Given the description of an element on the screen output the (x, y) to click on. 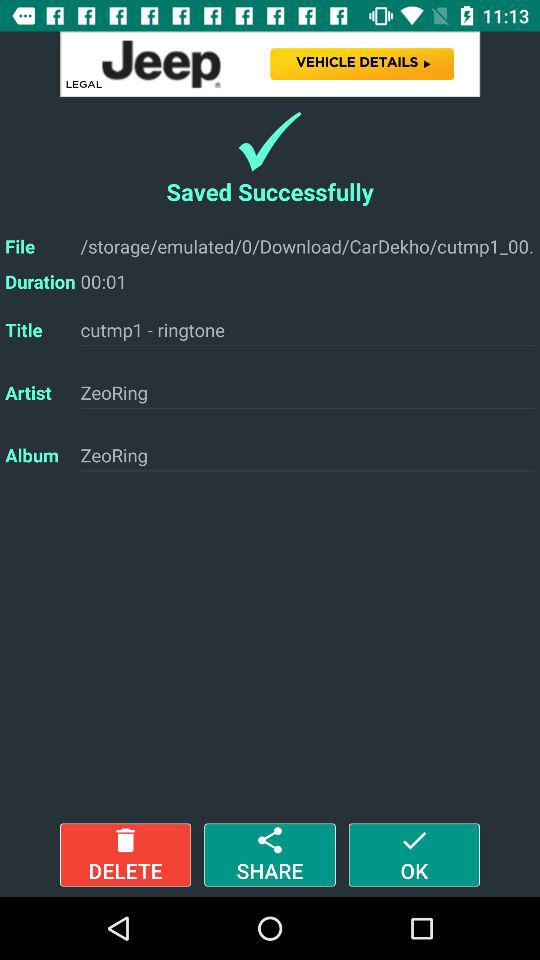
open advertisement (270, 64)
